Given the description of an element on the screen output the (x, y) to click on. 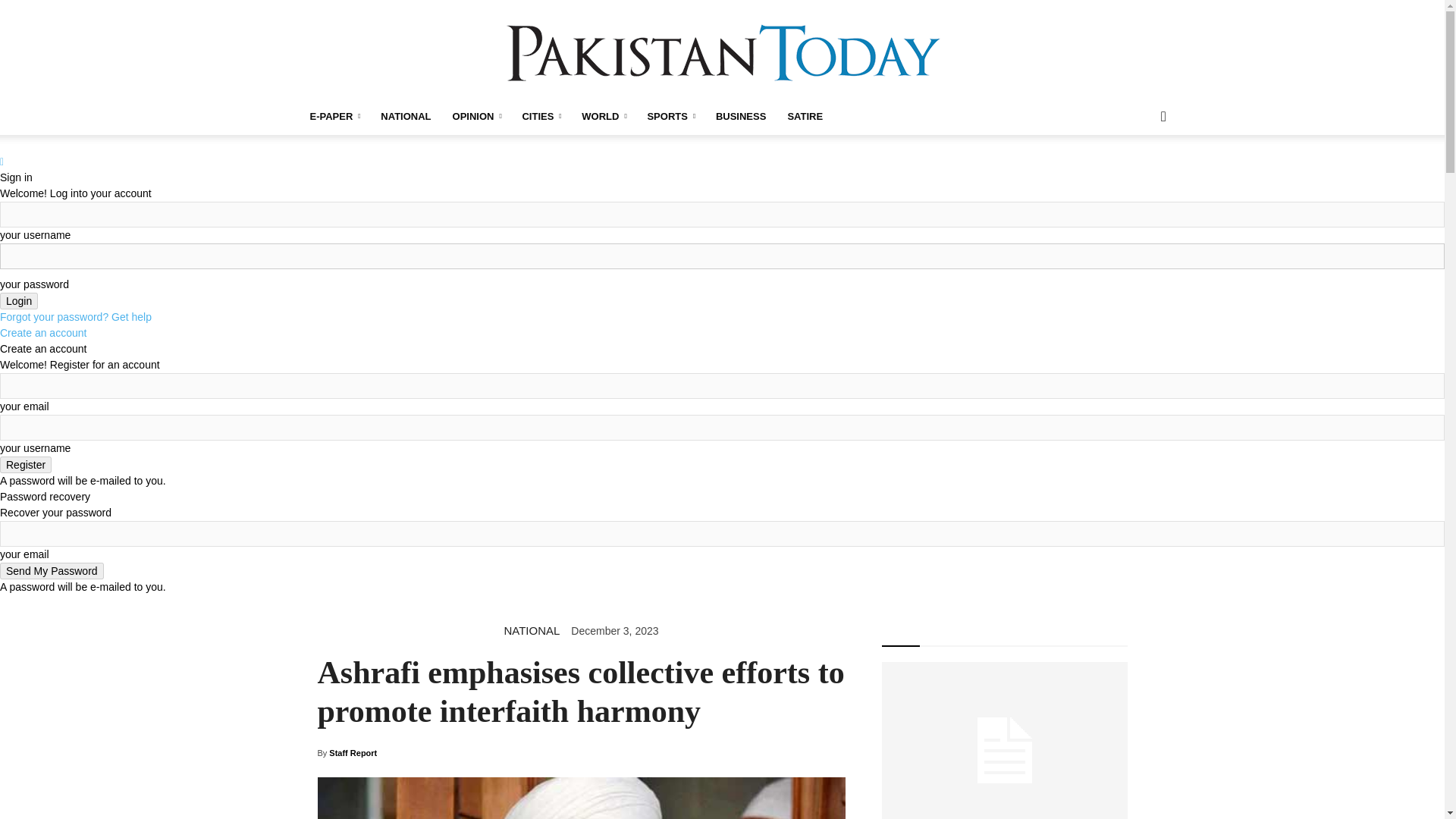
Register (25, 464)
E-PAPER (333, 116)
Pakistan Today (722, 49)
Login (18, 300)
NATIONAL (405, 116)
Send My Password (51, 570)
OPINION (477, 116)
